Given the description of an element on the screen output the (x, y) to click on. 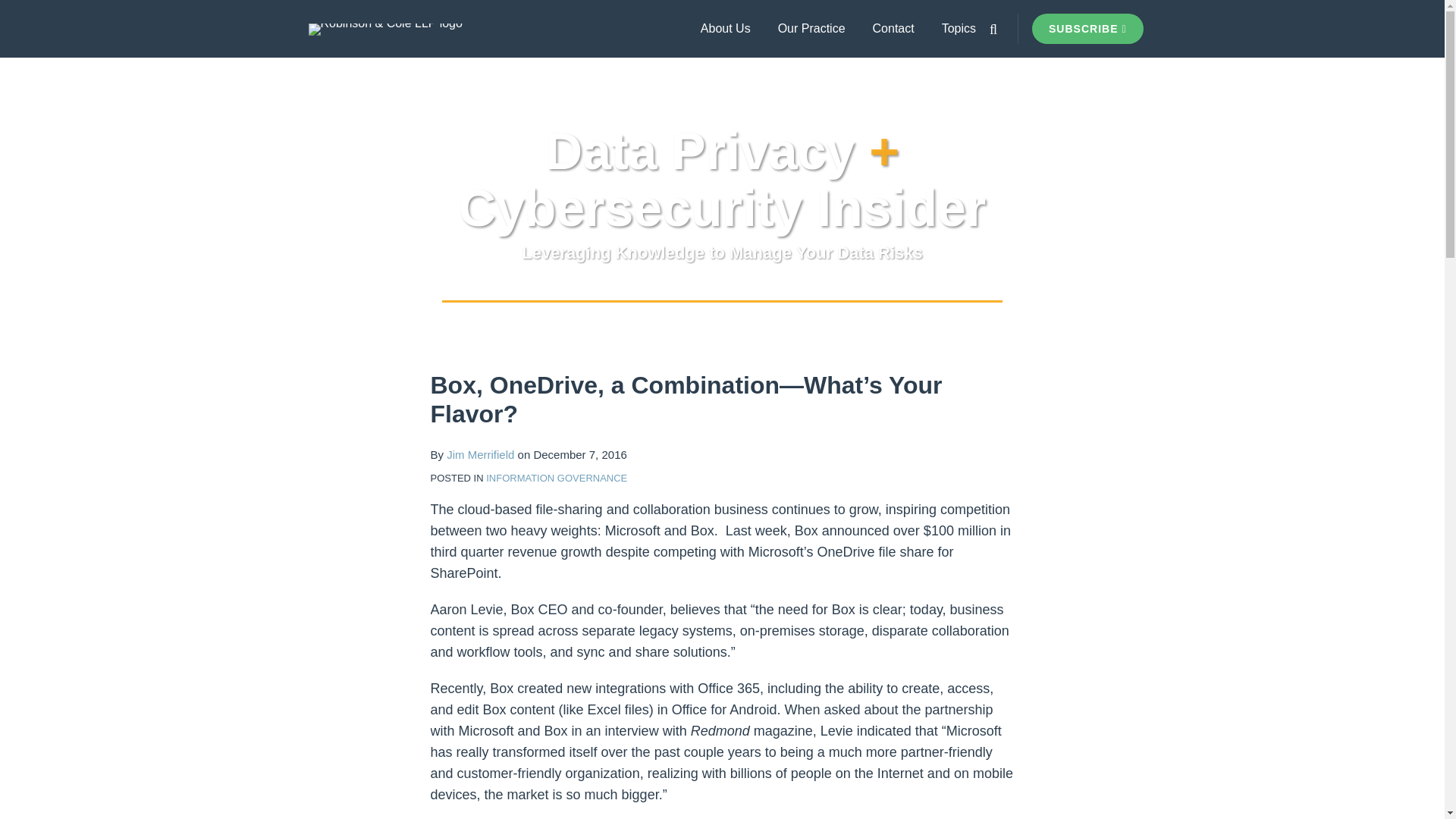
SUBSCRIBE (1087, 28)
Our Practice (811, 28)
Jim Merrifield (479, 454)
INFORMATION GOVERNANCE (556, 478)
Topics (958, 28)
About Us (725, 28)
Contact (893, 28)
